Given the description of an element on the screen output the (x, y) to click on. 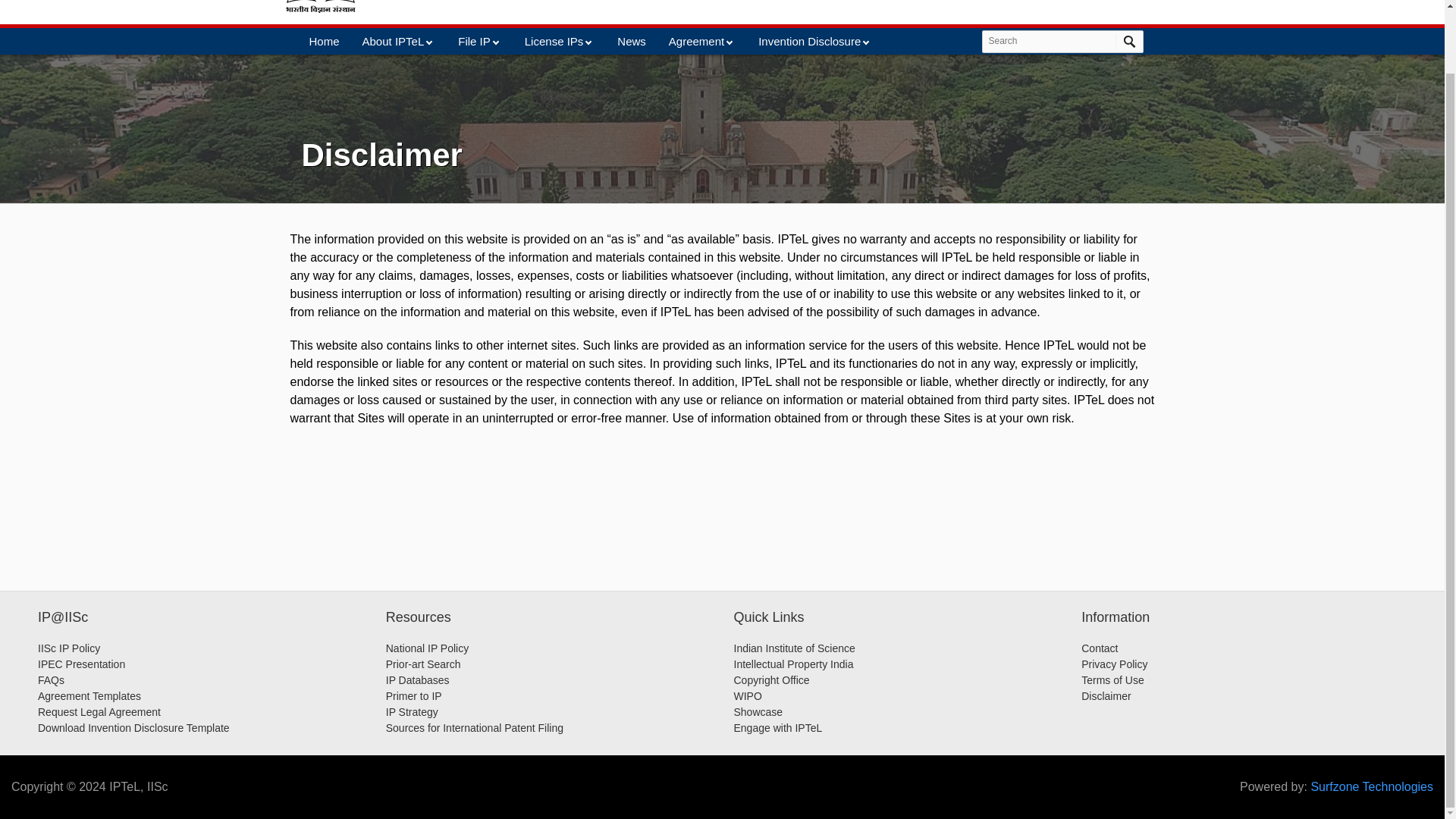
Invention Disclosure (815, 40)
License IPs (559, 40)
Go to Homepage (320, 8)
Indian Institute of Science (794, 648)
Agreement (701, 40)
Request Legal Agreement (98, 711)
National IP Policy (426, 648)
News (631, 40)
IISc IP Policy (68, 648)
IPEC Presentation (81, 664)
Go to Homepage (579, 2)
Download Invention Disclosure Template (133, 727)
FAQs (50, 680)
Copyright Office (771, 680)
About IPTeL (399, 40)
